Given the description of an element on the screen output the (x, y) to click on. 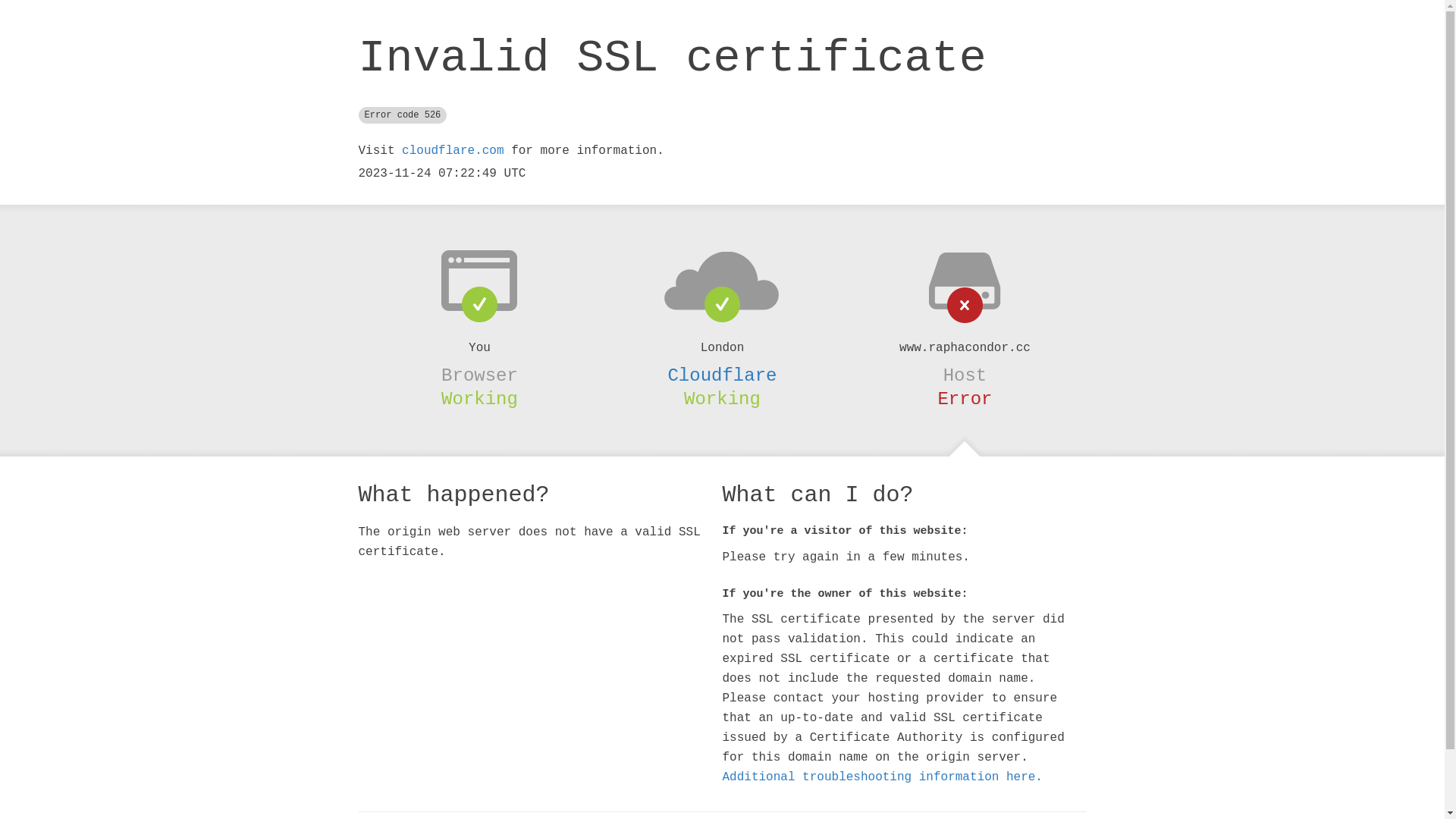
Additional troubleshooting information here. Element type: text (881, 777)
Cloudflare Element type: text (721, 375)
cloudflare.com Element type: text (452, 150)
